Given the description of an element on the screen output the (x, y) to click on. 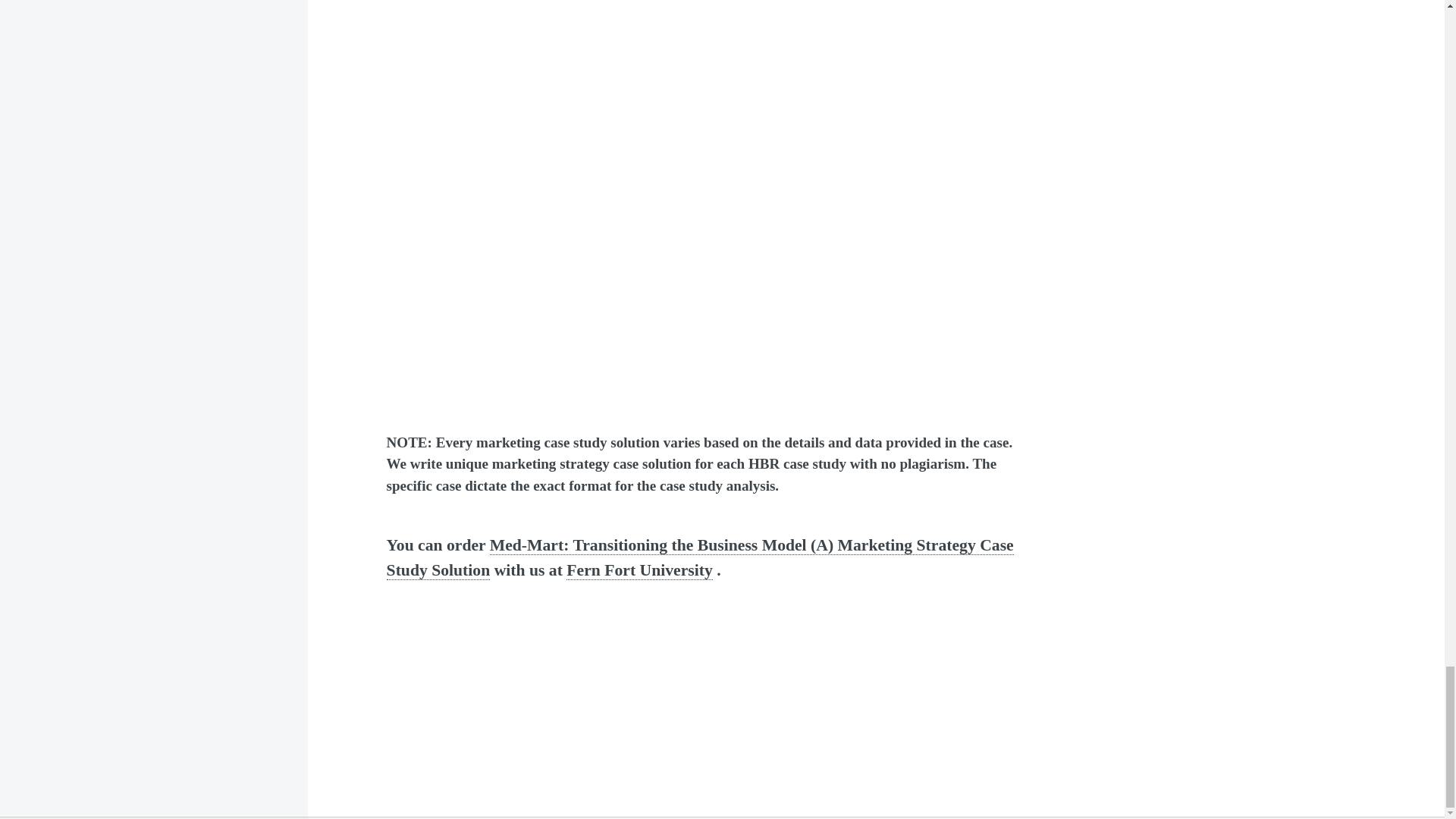
Fern Fort University (638, 570)
